Given the description of an element on the screen output the (x, y) to click on. 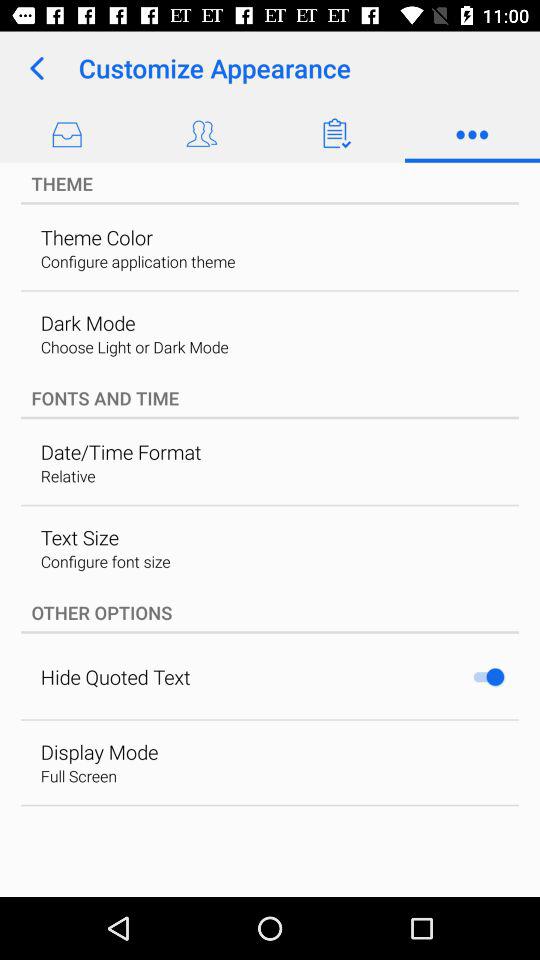
turn off the choose light or app (134, 346)
